Given the description of an element on the screen output the (x, y) to click on. 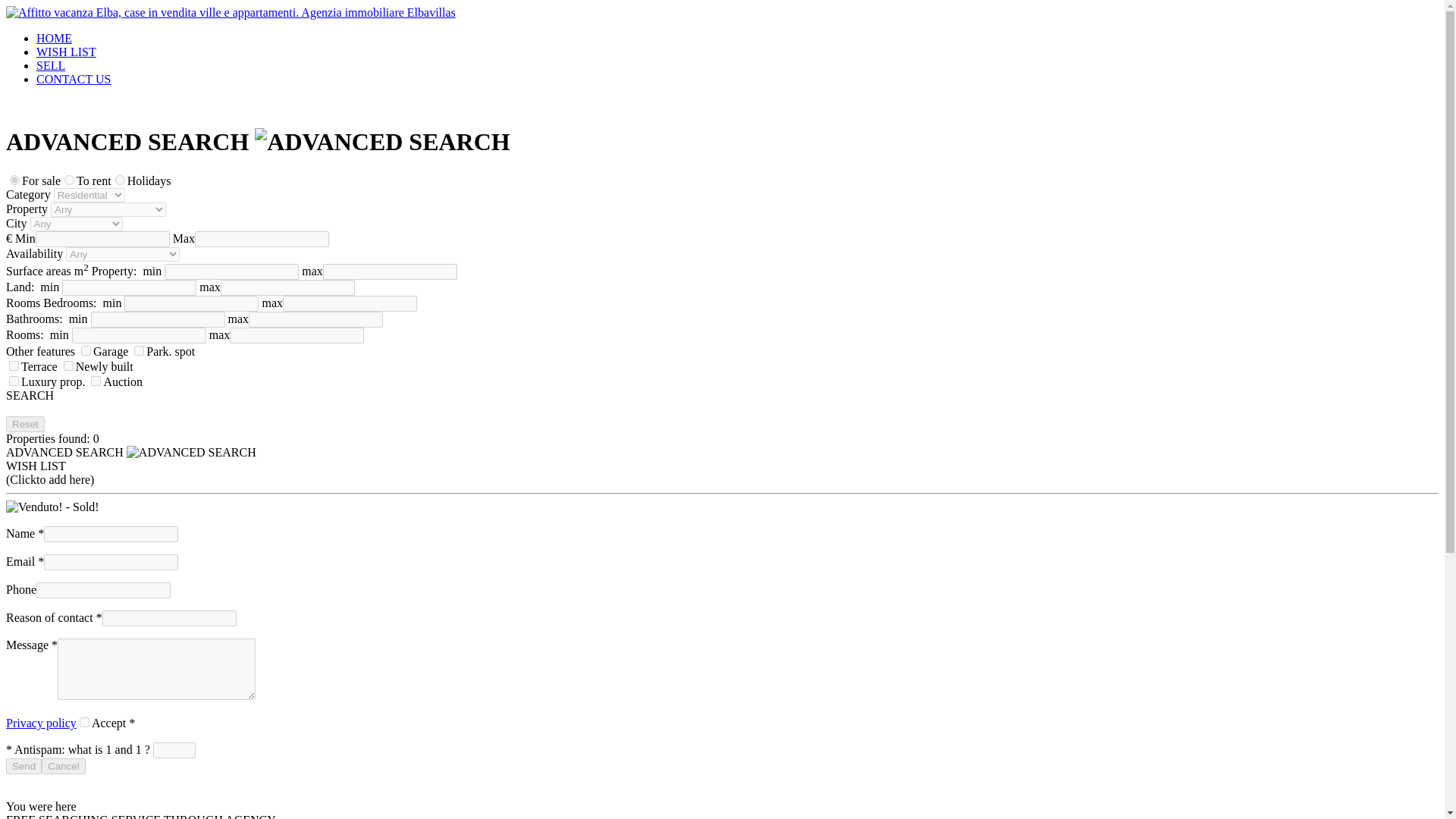
Privacy policy (41, 722)
HOME (53, 38)
WISH LIST (66, 51)
3 (120, 180)
1 (85, 350)
CONTACT US (73, 78)
1 (13, 380)
1 (69, 366)
1 (13, 366)
1 (15, 180)
